Given the description of an element on the screen output the (x, y) to click on. 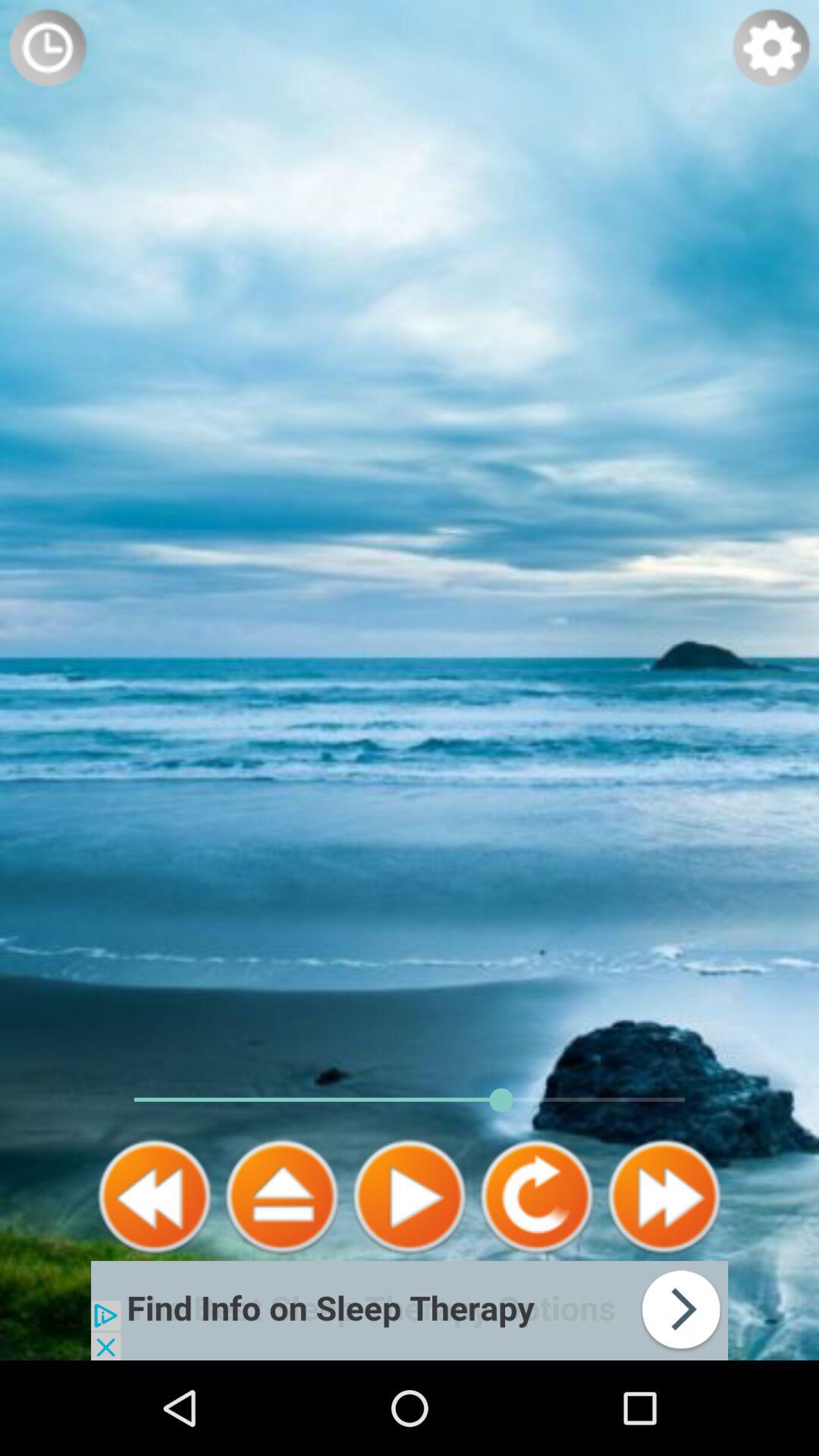
play music (409, 1196)
